Given the description of an element on the screen output the (x, y) to click on. 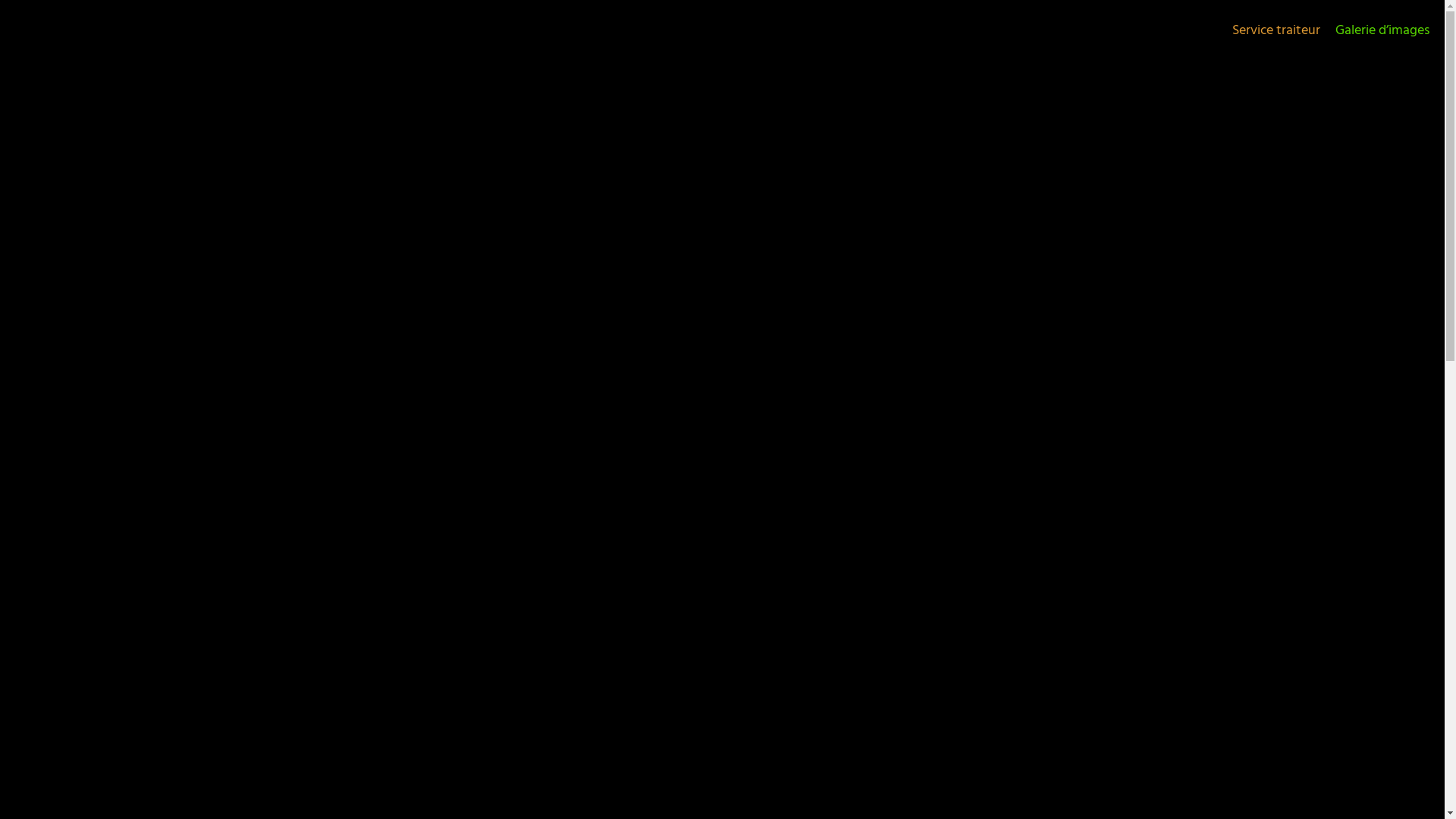
Rechercher Element type: text (812, 315)
Service traiteur Element type: text (1276, 31)
Bento-Mio Element type: text (93, 134)
Accueil Element type: text (647, 73)
